Given the description of an element on the screen output the (x, y) to click on. 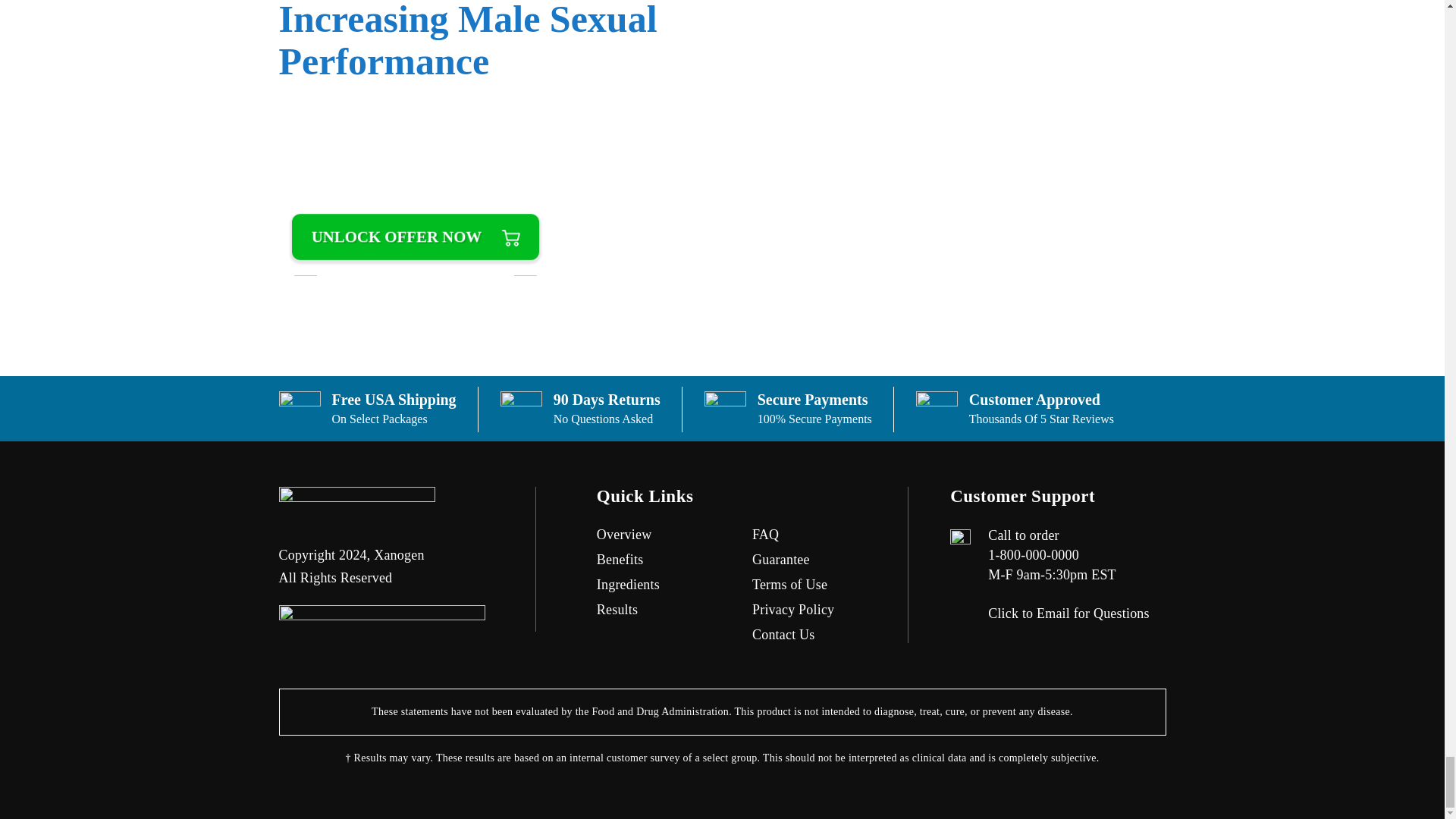
UNLOCK OFFER NOW (415, 237)
Benefits (619, 559)
FAQ (765, 534)
1-800-000-0000 (1033, 554)
Results (616, 609)
Ingredients (627, 584)
Contact Us (783, 634)
Click to Email for Questions (1069, 613)
Privacy Policy (793, 609)
Terms of Use (789, 584)
Overview (624, 534)
Guarantee (780, 559)
